Given the description of an element on the screen output the (x, y) to click on. 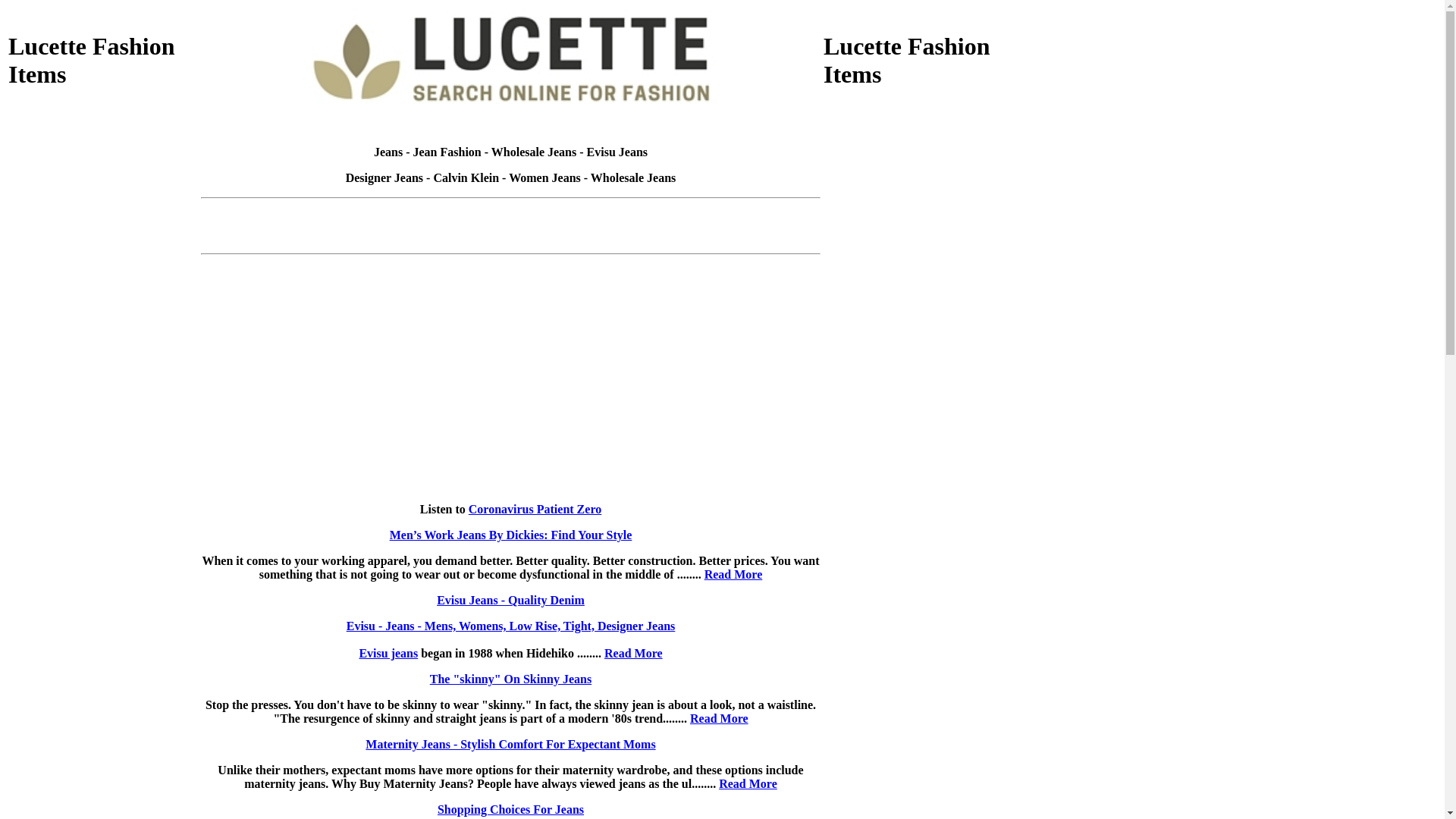
Shopping Choices For Jeans Element type: text (510, 809)
Advertisement Element type: hover (918, 413)
Read More Element type: text (719, 718)
Advertisement Element type: hover (102, 413)
Read More Element type: text (747, 783)
Advertisement Element type: hover (511, 238)
Advertisement Element type: hover (102, 620)
Maternity Jeans - Stylish Comfort For Expectant Moms Element type: text (510, 743)
Advertisement Element type: hover (102, 207)
The "skinny" On Skinny Jeans Element type: text (510, 678)
Evisu Jeans - Quality Denim Element type: text (510, 599)
Read More Element type: text (733, 573)
Jeans Element type: text (387, 151)
Advertisement Element type: hover (511, 210)
Wholesale Jeans Element type: text (632, 177)
Women Jeans Element type: text (544, 177)
Advertisement Element type: hover (918, 620)
Jean Fashion Element type: text (446, 151)
Wholesale Jeans Element type: text (533, 151)
Advertisement Element type: hover (918, 207)
Read More Element type: text (633, 652)
Coronavirus Patient Zero Element type: text (534, 508)
Evisu Jeans Element type: text (616, 151)
Calvin Klein Element type: text (465, 177)
Designer Jeans Element type: text (384, 177)
